Given the description of an element on the screen output the (x, y) to click on. 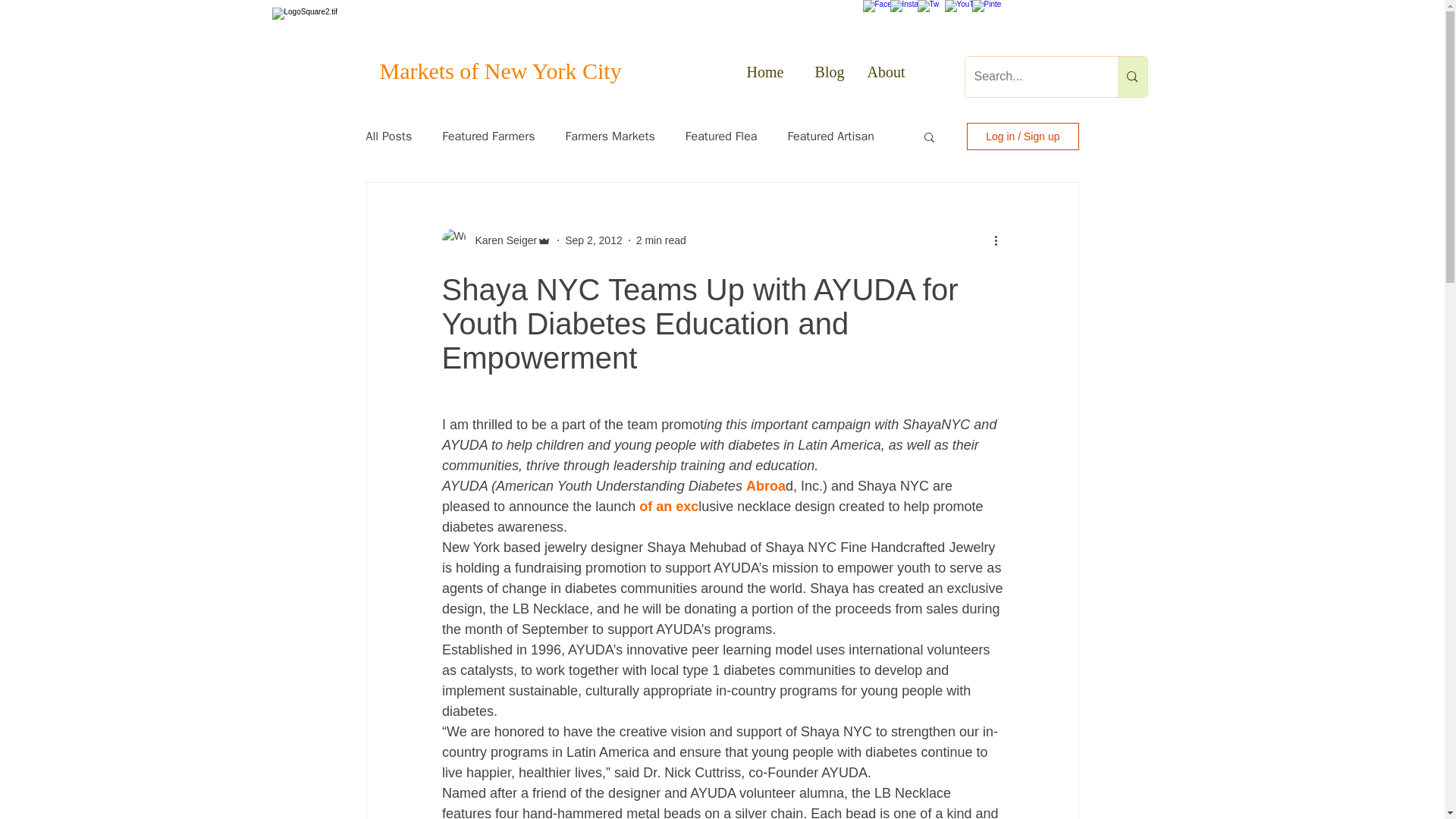
2 min read (660, 239)
Karen Seiger (501, 239)
Farmers Markets (610, 136)
All Posts (388, 136)
Featured Farmers (488, 136)
Abroa (764, 485)
Featured Flea (721, 136)
Home (763, 76)
Featured Artisan (830, 136)
Blog (825, 76)
